Given the description of an element on the screen output the (x, y) to click on. 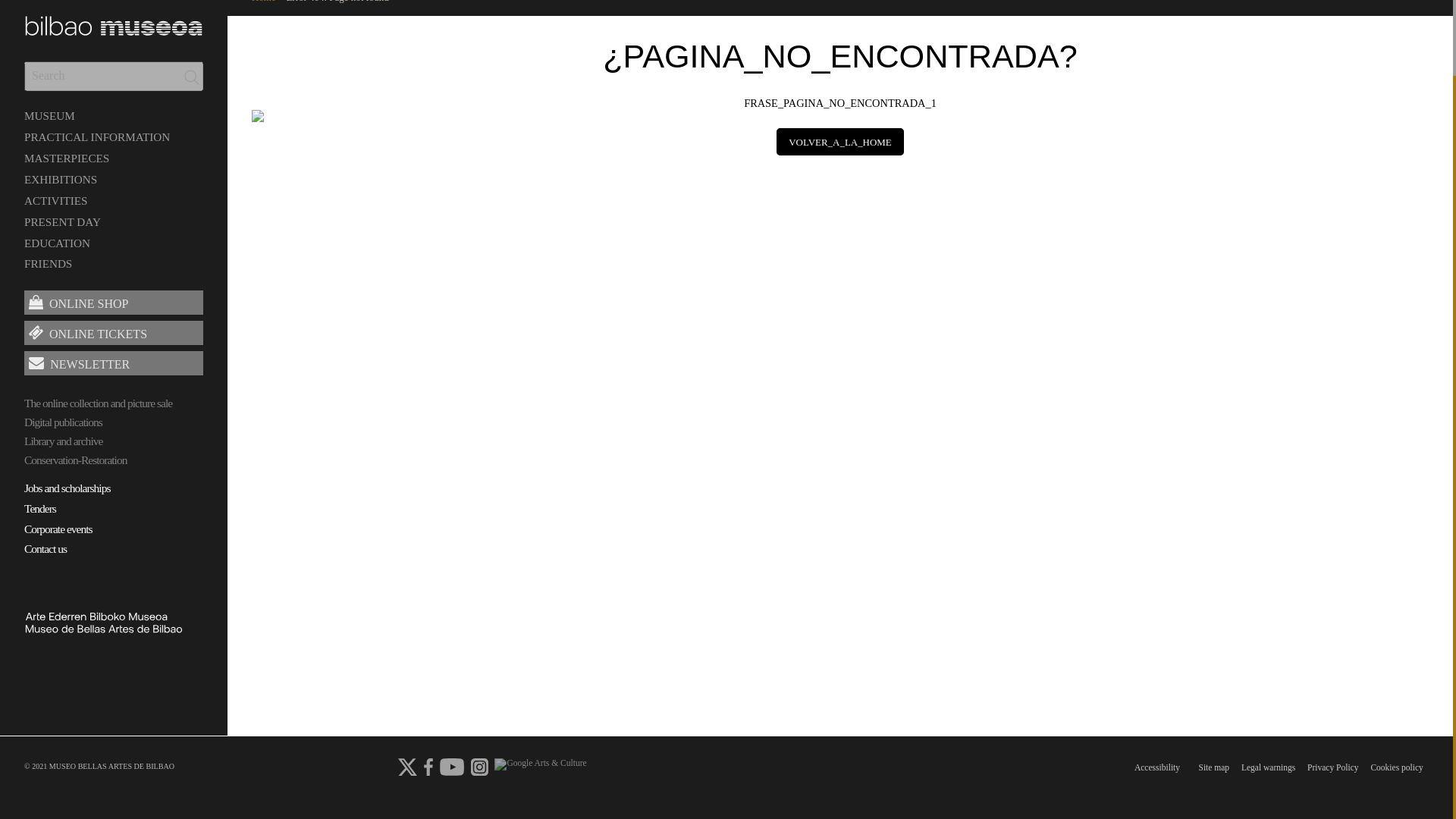
Tenders (113, 510)
Digital publications (113, 422)
EXHIBITIONS (60, 178)
Conservation-Restoration (113, 460)
Ir a twitter en ventana nueva (406, 766)
PRESENT DAY (62, 221)
EDUCATION (57, 242)
ONLINE SHOP (113, 302)
FRIENDS (47, 263)
PRACTICAL INFORMATION (97, 136)
ACTIVITIES (55, 200)
MASTERPIECES (66, 157)
MUSEUM (49, 115)
Jobs and scholarships (113, 489)
Ir a google play en ventana nueva (451, 766)
